Given the description of an element on the screen output the (x, y) to click on. 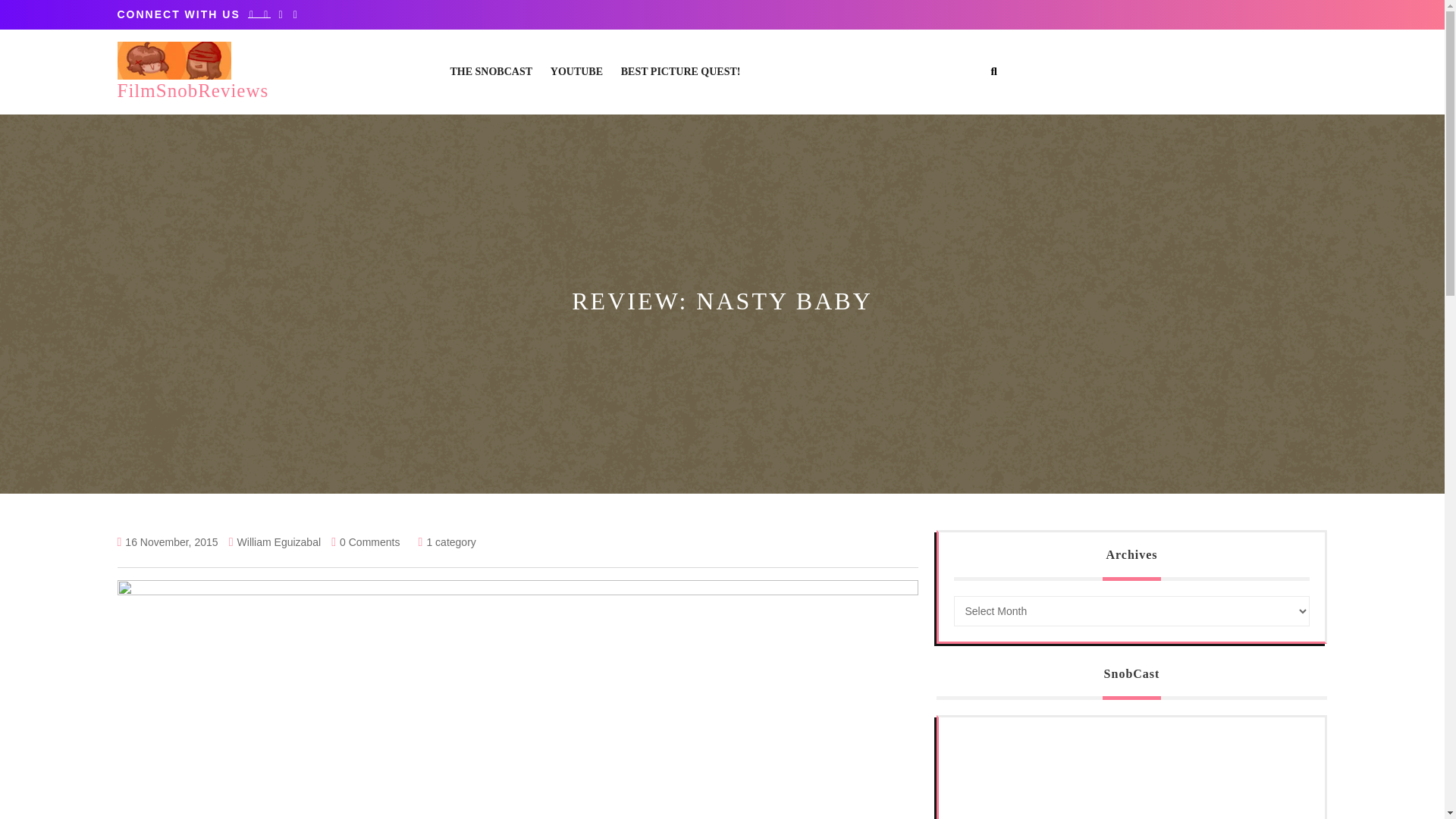
THE SNOBCAST (490, 71)
YOUTUBE (576, 71)
BEST PICTURE QUEST! (681, 71)
FilmSnobReviews (191, 90)
